Given the description of an element on the screen output the (x, y) to click on. 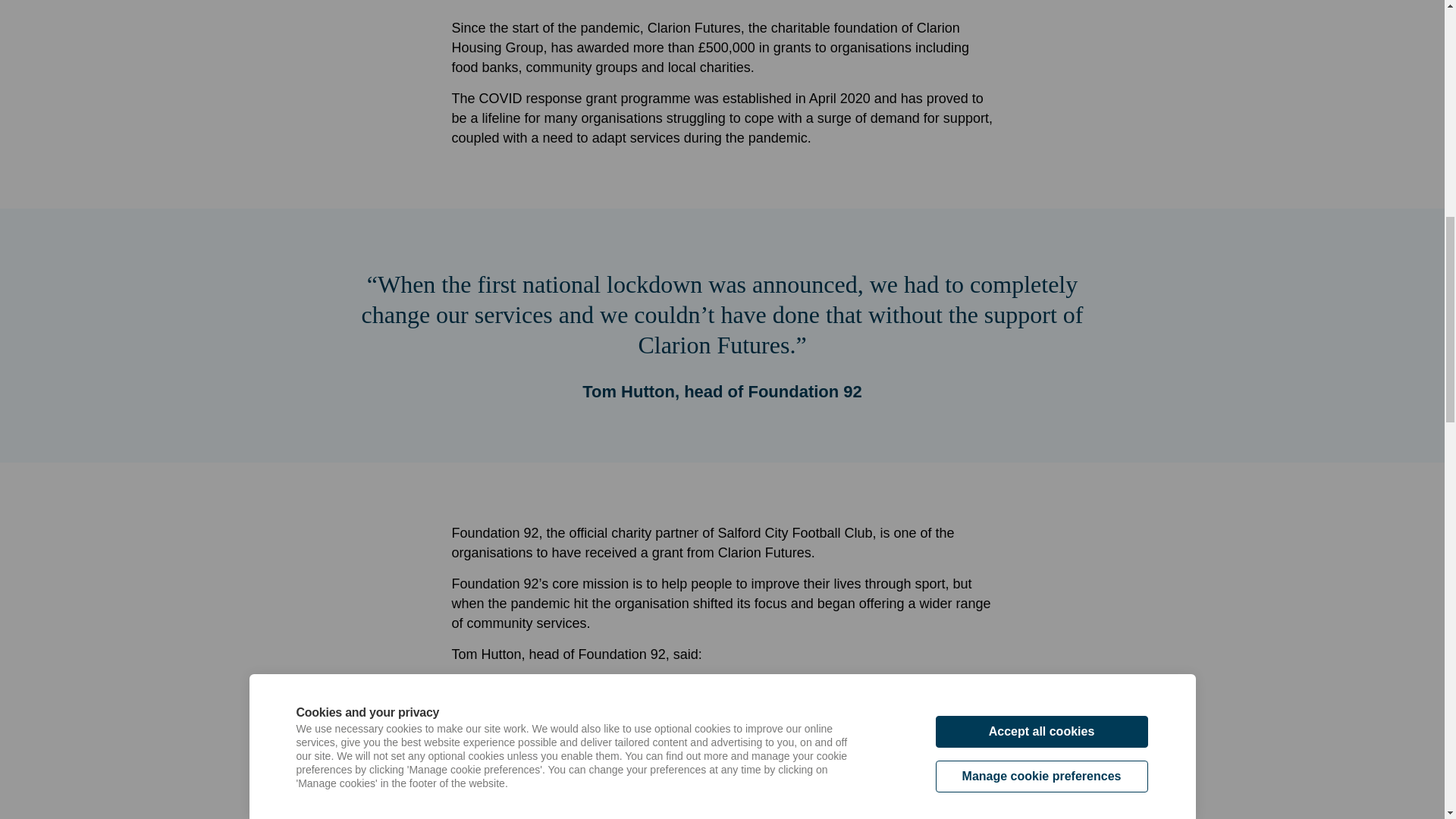
Manage cookie preferences (1042, 82)
Accept all cookies (1042, 53)
